Given the description of an element on the screen output the (x, y) to click on. 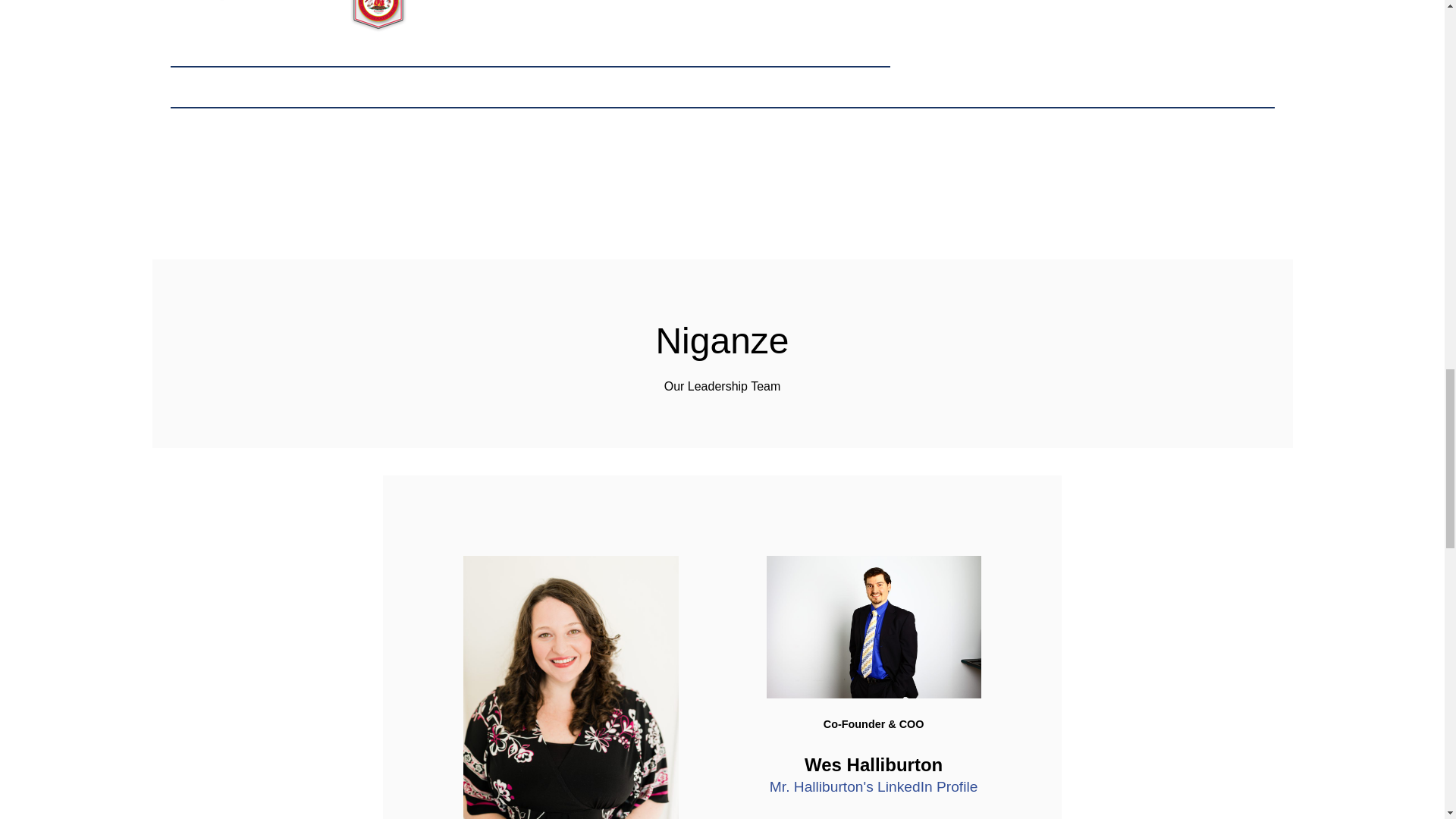
Mr. Halliburton's LinkedIn Profile (874, 786)
